Given the description of an element on the screen output the (x, y) to click on. 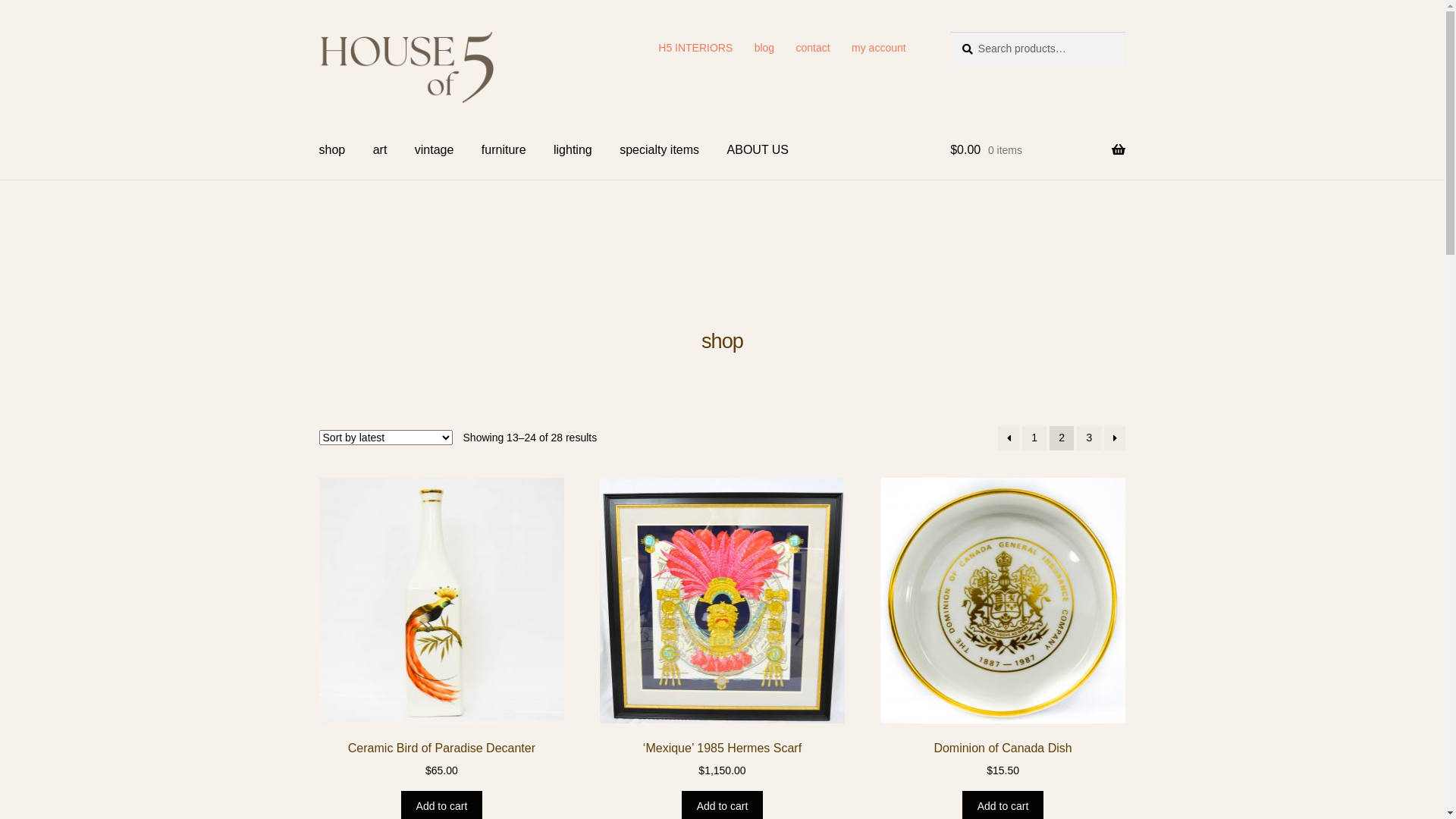
$0.00 0 items Element type: text (1037, 149)
blog Element type: text (763, 47)
H5 INTERIORS Element type: text (695, 47)
furniture Element type: text (503, 149)
ABOUT US Element type: text (758, 149)
Skip to Navigation Element type: text (318, 31)
shop Element type: text (332, 149)
art Element type: text (379, 149)
Search Element type: text (949, 31)
1 Element type: text (1034, 438)
contact Element type: text (812, 47)
lighting Element type: text (572, 149)
Dominion of Canada Dish
$15.50 Element type: text (1003, 627)
Ceramic Bird of Paradise Decanter
$65.00 Element type: text (441, 627)
specialty items Element type: text (659, 149)
vintage Element type: text (434, 149)
my account Element type: text (878, 47)
3 Element type: text (1088, 438)
